Given the description of an element on the screen output the (x, y) to click on. 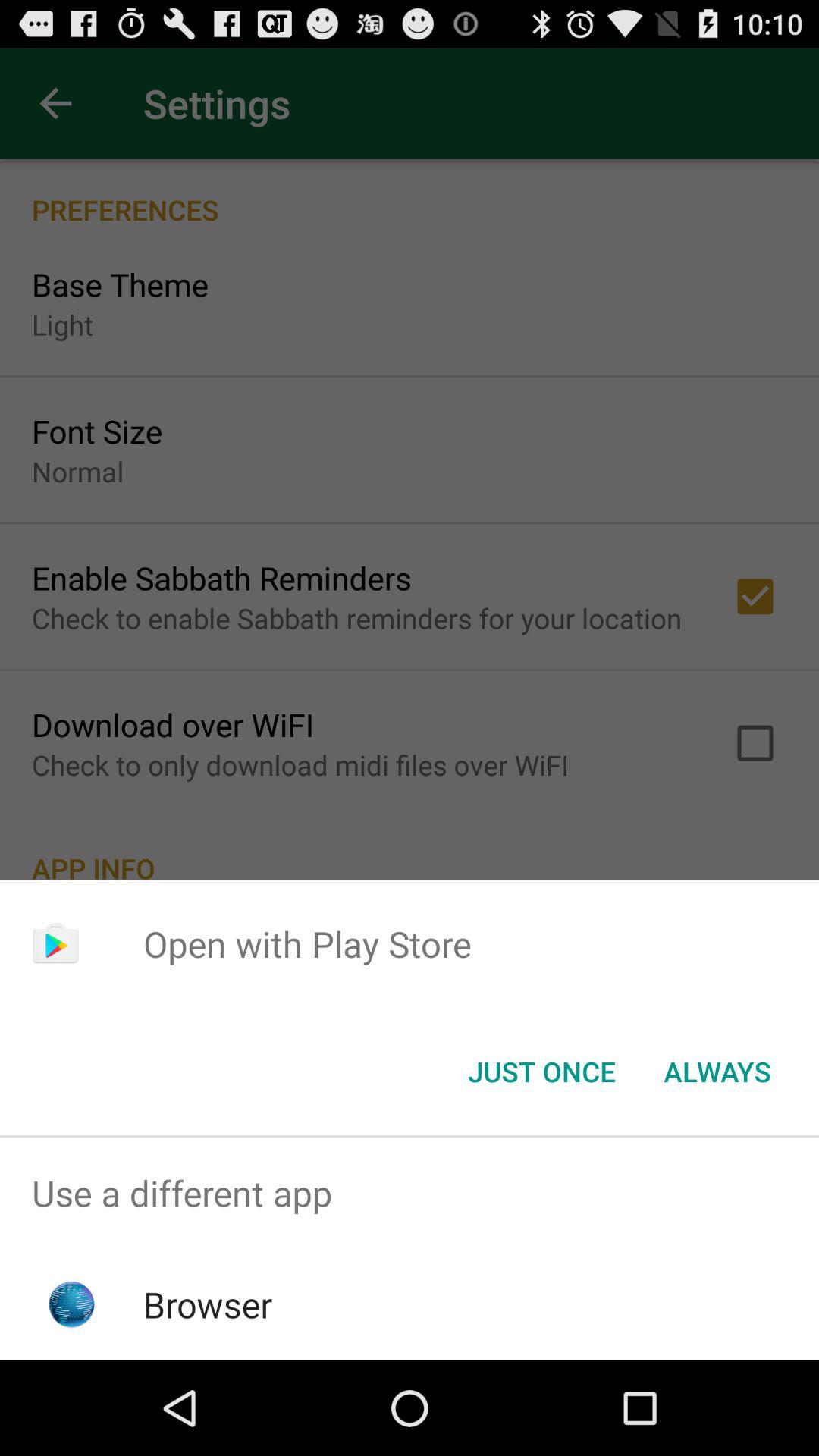
launch the icon above the browser item (409, 1192)
